Given the description of an element on the screen output the (x, y) to click on. 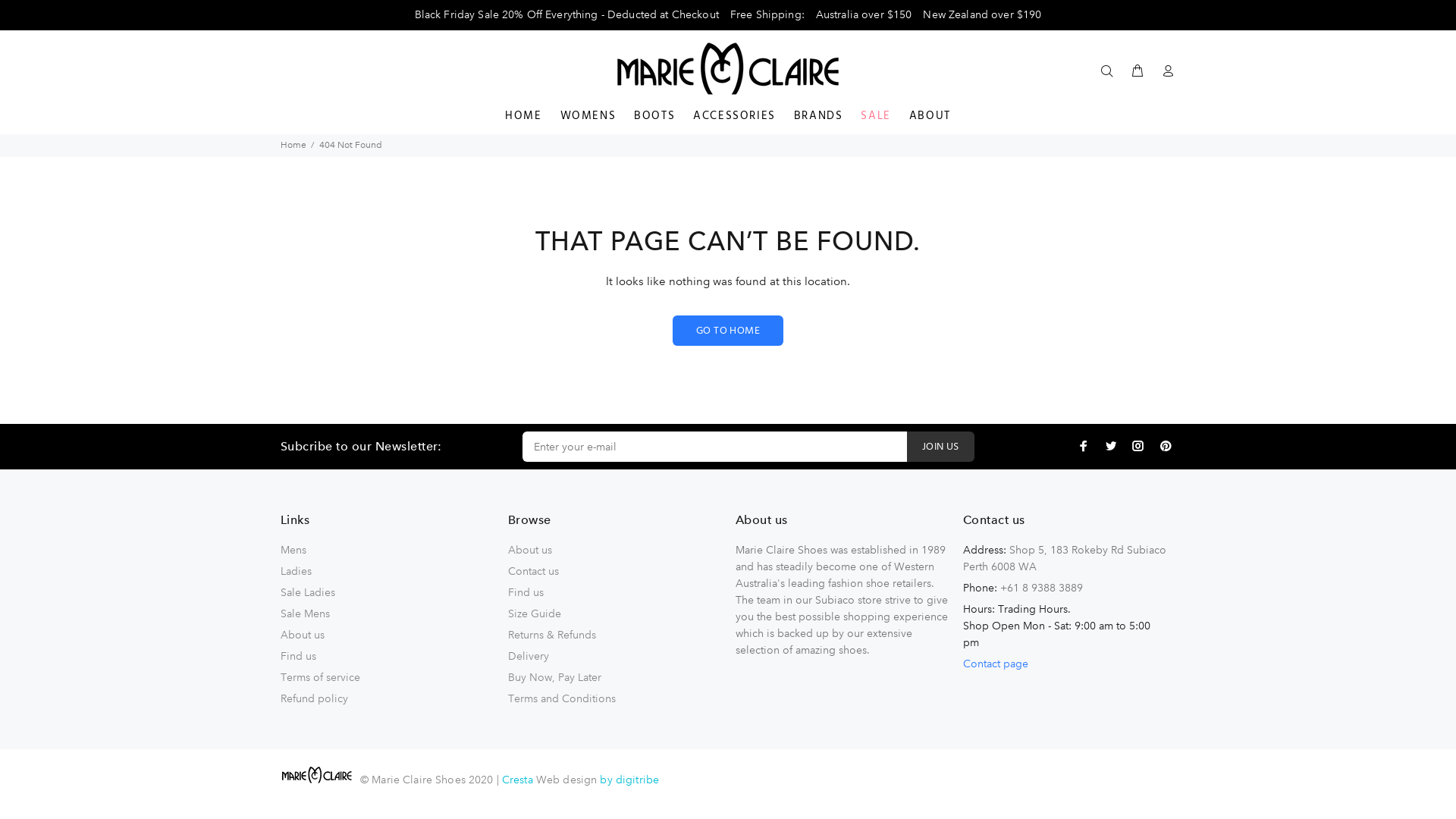
SALE Element type: text (875, 118)
Find us Element type: text (525, 591)
Home Element type: text (293, 144)
Contact us Element type: text (533, 569)
JOIN US Element type: text (940, 445)
About us Element type: text (530, 548)
by digitribe Element type: text (628, 778)
Mens Element type: text (293, 548)
Cresta Element type: text (519, 778)
ABOUT Element type: text (925, 118)
Find us Element type: text (298, 654)
Refund policy Element type: text (314, 697)
Returns & Refunds Element type: text (552, 633)
HOME Element type: text (522, 118)
Terms of service Element type: text (320, 676)
WOMENS Element type: text (588, 118)
Ladies Element type: text (295, 569)
BOOTS Element type: text (654, 118)
About us Element type: text (302, 633)
Terms and Conditions Element type: text (561, 697)
Sale Ladies Element type: text (307, 591)
BRANDS Element type: text (818, 118)
GO TO HOME Element type: text (727, 330)
Buy Now, Pay Later Element type: text (554, 676)
Delivery Element type: text (528, 654)
Contact page Element type: text (995, 663)
Size Guide Element type: text (534, 612)
Sale Mens Element type: text (304, 612)
ACCESSORIES Element type: text (734, 118)
